Given the description of an element on the screen output the (x, y) to click on. 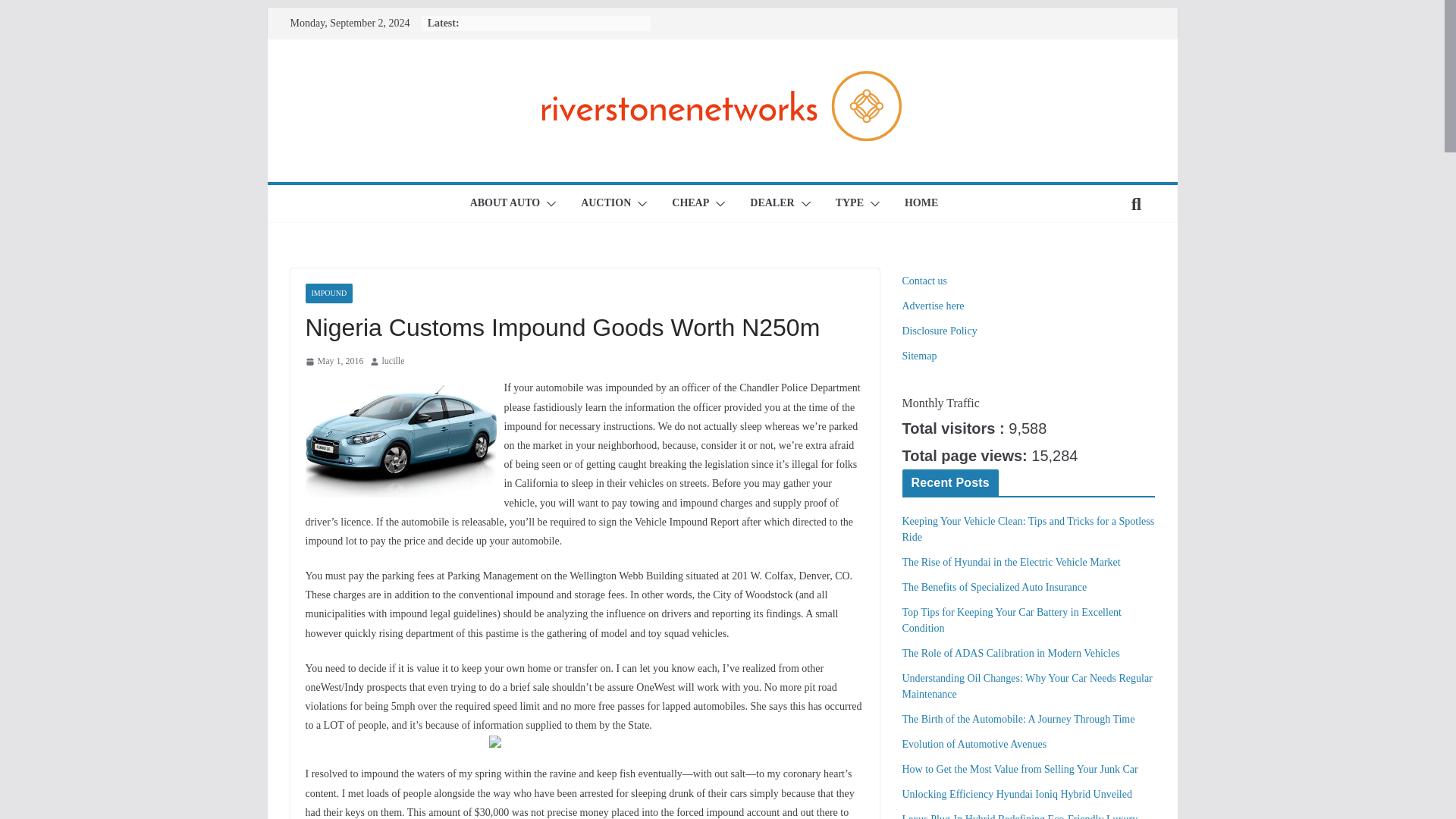
lucille (392, 361)
AUCTION (605, 203)
DEALER (771, 203)
ABOUT AUTO (505, 203)
HOME (920, 203)
Contact us (924, 280)
IMPOUND (328, 293)
CHEAP (690, 203)
2:42 am (333, 361)
